Given the description of an element on the screen output the (x, y) to click on. 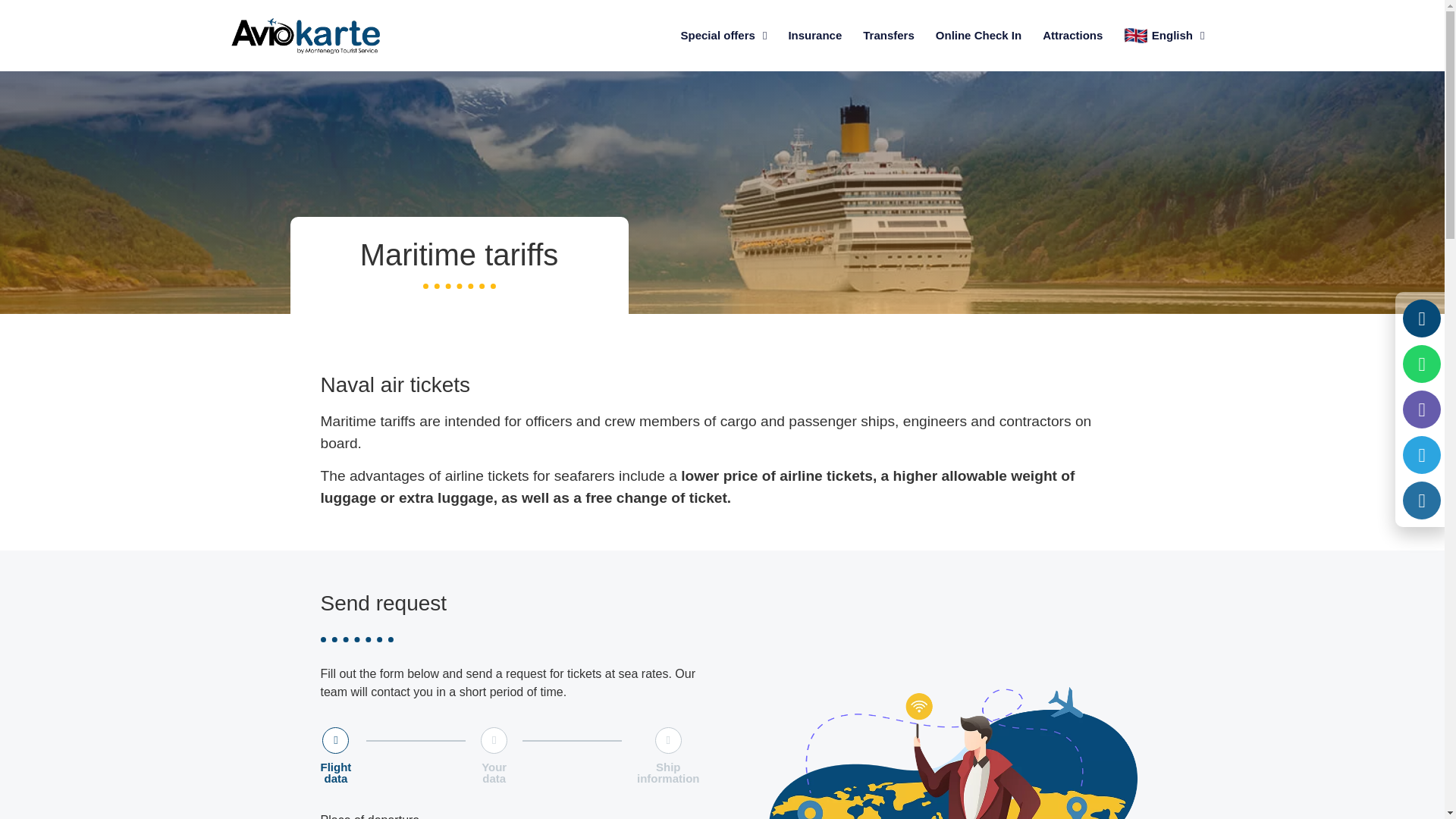
Attractions (1072, 35)
Online Check In (978, 35)
Insurance (814, 35)
English (1163, 35)
Special offers (723, 35)
Transfers (887, 35)
